Given the description of an element on the screen output the (x, y) to click on. 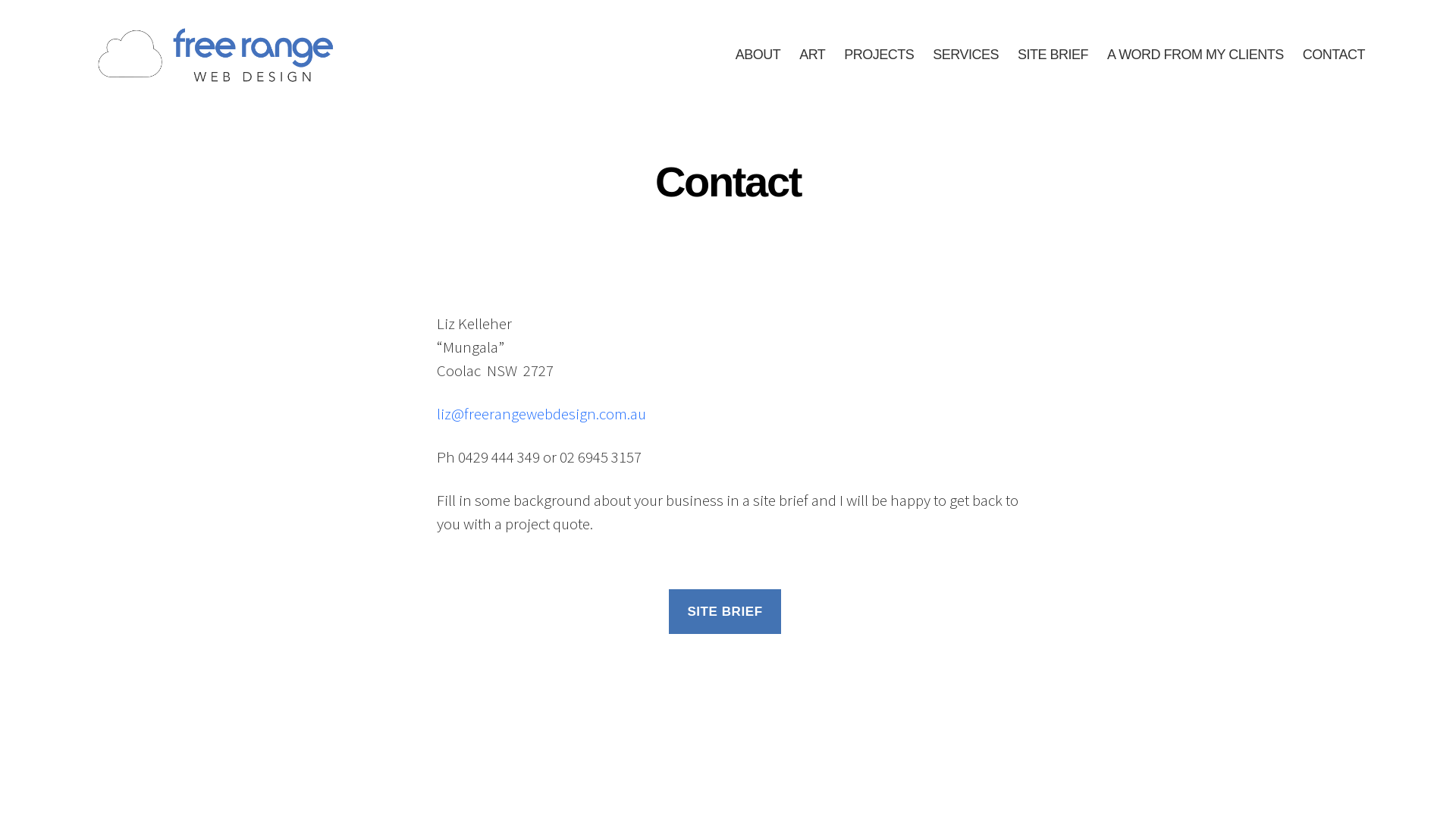
liz@freerangewebdesign.com.au Element type: text (541, 413)
A WORD FROM MY CLIENTS Element type: text (1195, 55)
ABOUT Element type: text (758, 55)
SERVICES Element type: text (965, 55)
SITE BRIEF Element type: text (1052, 55)
PROJECTS Element type: text (878, 55)
CONTACT Element type: text (1333, 55)
ART Element type: text (812, 55)
SITE BRIEF Element type: text (724, 611)
